Given the description of an element on the screen output the (x, y) to click on. 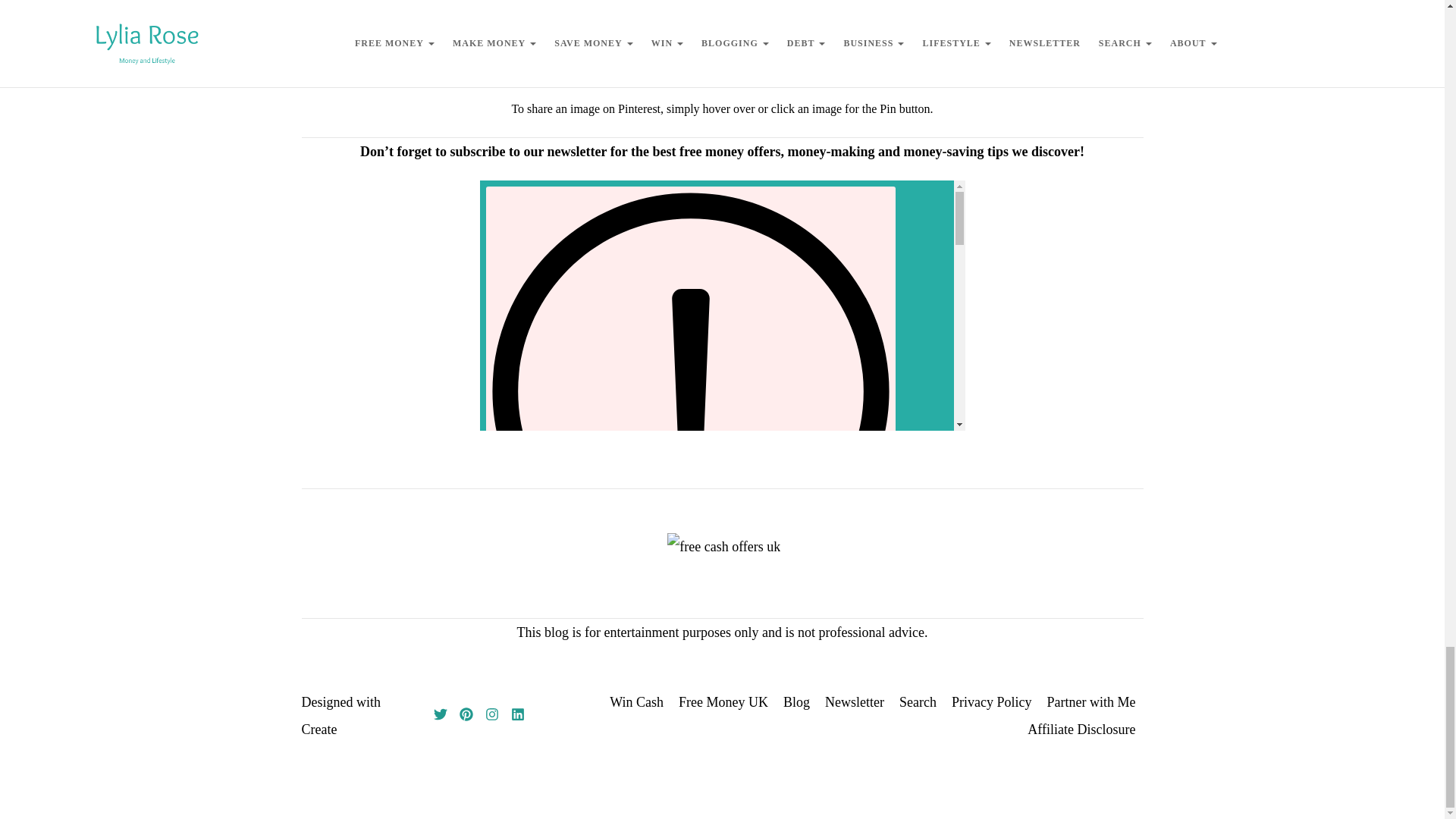
pinterest (466, 716)
free cash offers (723, 546)
instagram (491, 716)
twitter (439, 716)
